Given the description of an element on the screen output the (x, y) to click on. 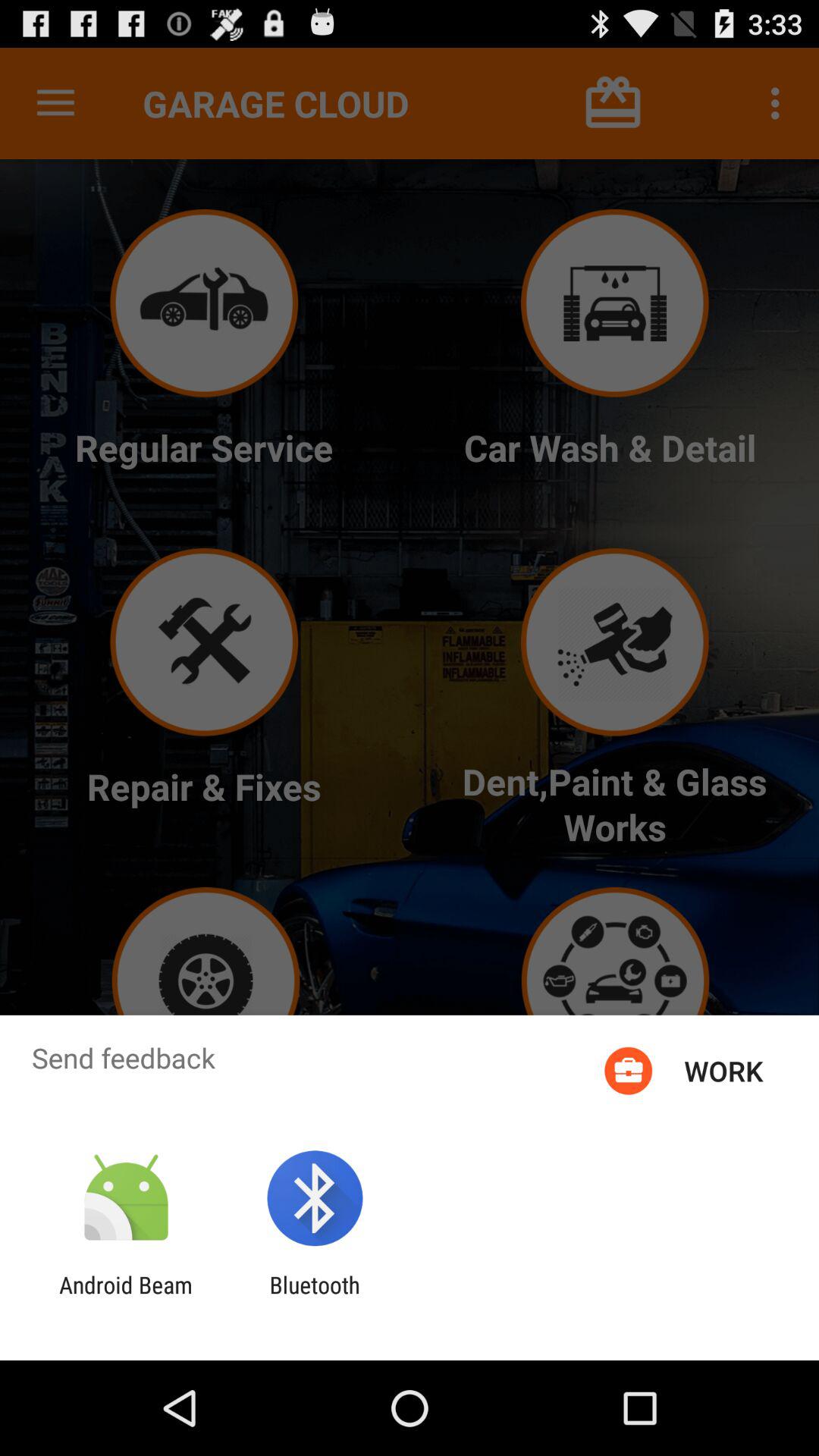
turn on the bluetooth item (314, 1298)
